Given the description of an element on the screen output the (x, y) to click on. 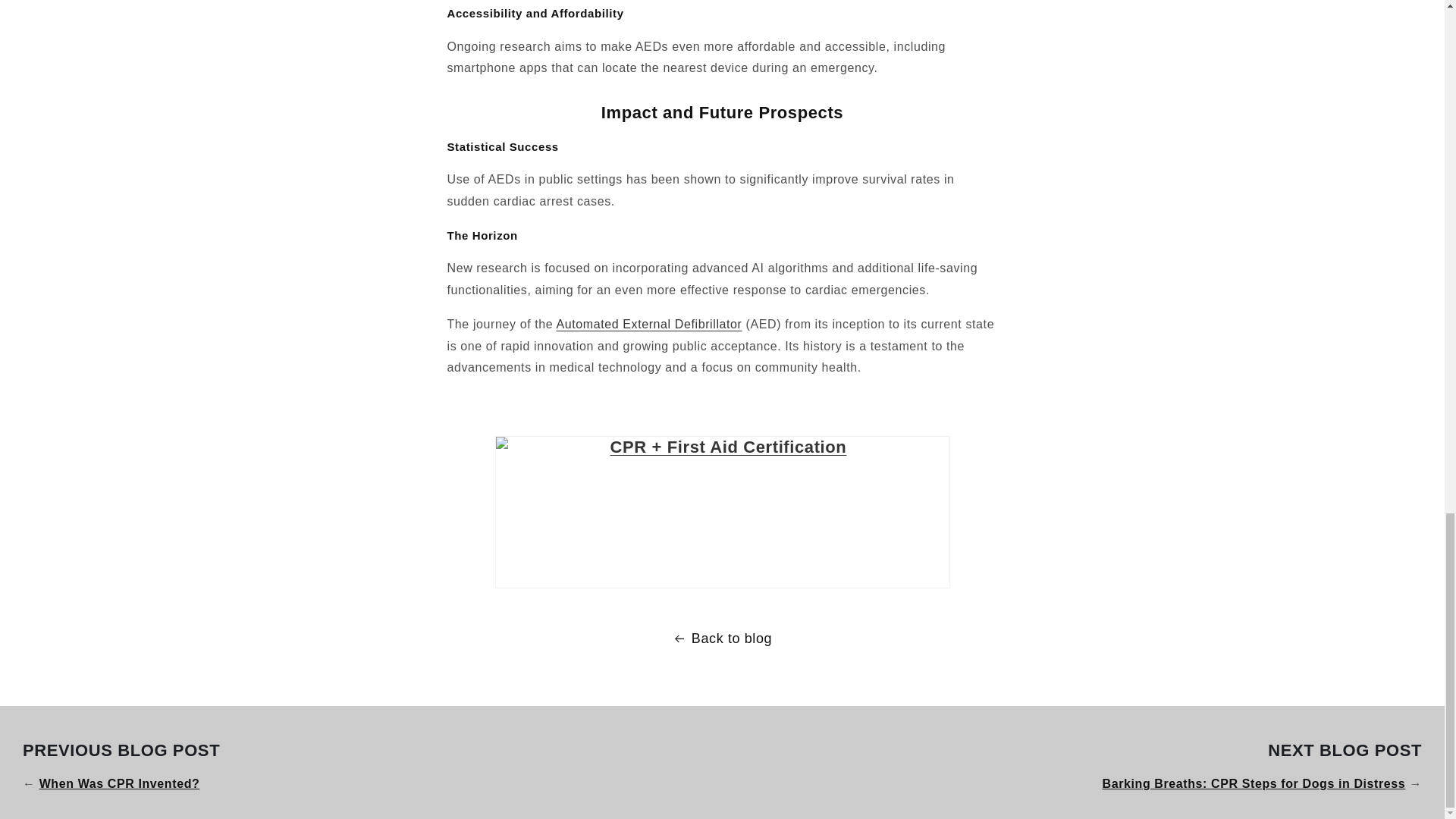
When Was CPR Invented? (119, 783)
Barking Breaths: CPR Steps for Dogs in Distress (1254, 783)
Automated External Defibrillator (648, 323)
